Given the description of an element on the screen output the (x, y) to click on. 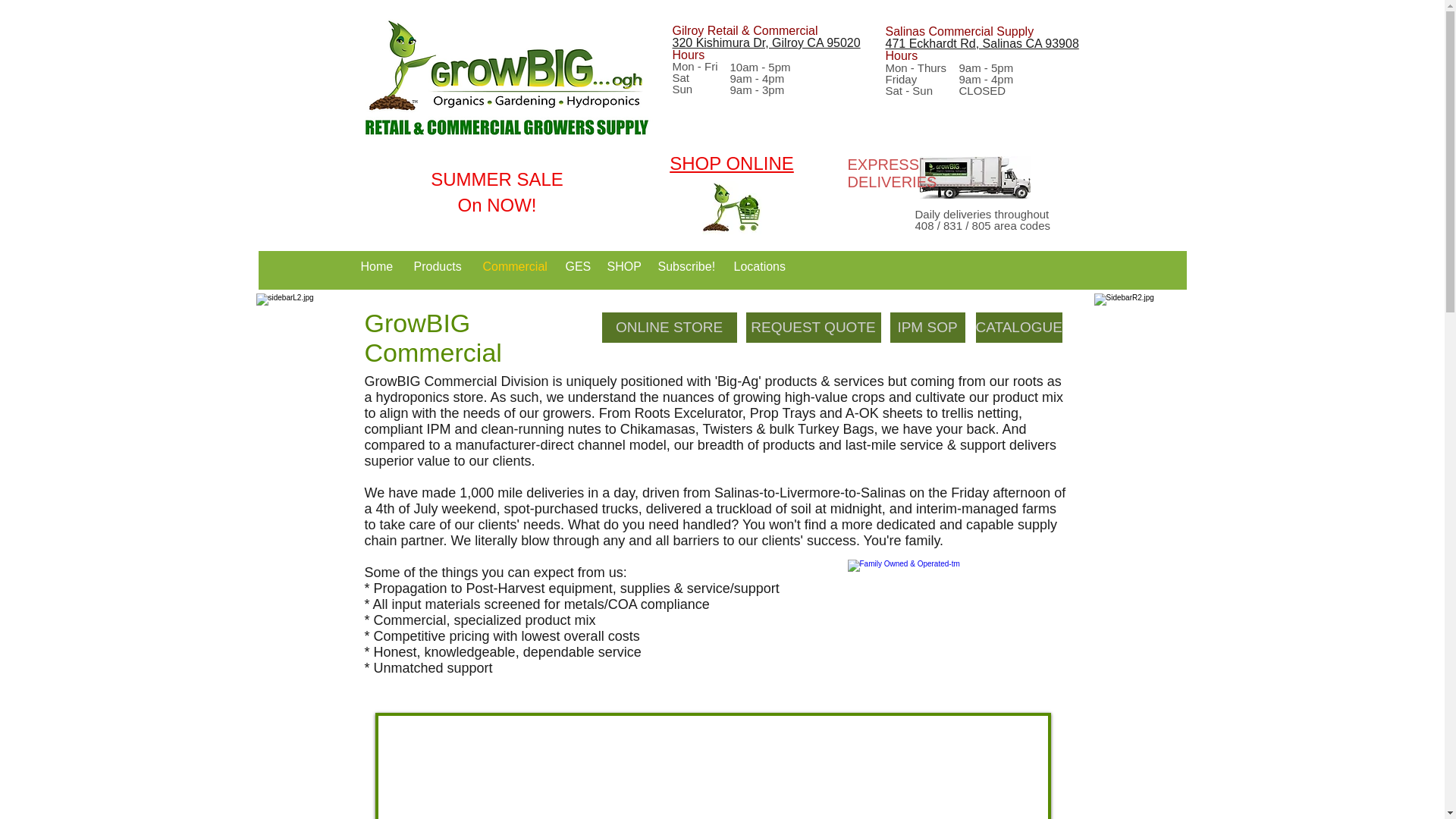
471 Eckhardt Rd, Salinas CA 93908 (981, 42)
Commercial (512, 266)
SHOP (620, 266)
ONLINE STORE (669, 327)
SHOP ONLINE (731, 163)
Home (375, 266)
CATALOGUE (1018, 327)
IPM SOP (927, 327)
320 Kishimura Dr, Gilroy CA 95020 (765, 42)
Subscribe! (684, 266)
REQUEST QUOTE (812, 327)
GES (574, 266)
Locations (758, 266)
Products (435, 266)
